Given the description of an element on the screen output the (x, y) to click on. 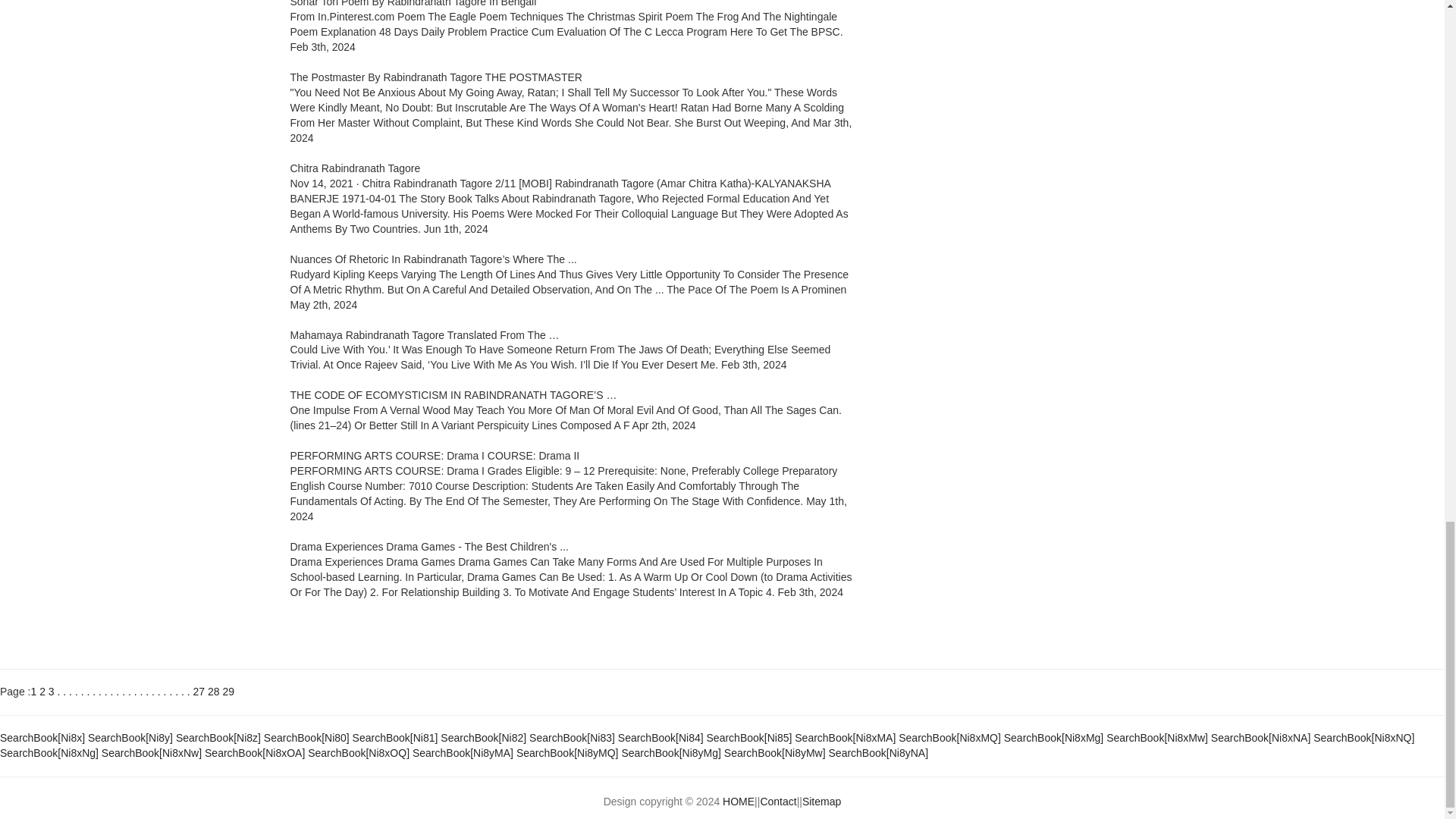
. (69, 691)
. (59, 691)
. (100, 691)
. (86, 691)
. (111, 691)
. (105, 691)
. (146, 691)
. (129, 691)
. (123, 691)
. (134, 691)
. (82, 691)
. (63, 691)
. (140, 691)
. (76, 691)
3 (51, 691)
